Given the description of an element on the screen output the (x, y) to click on. 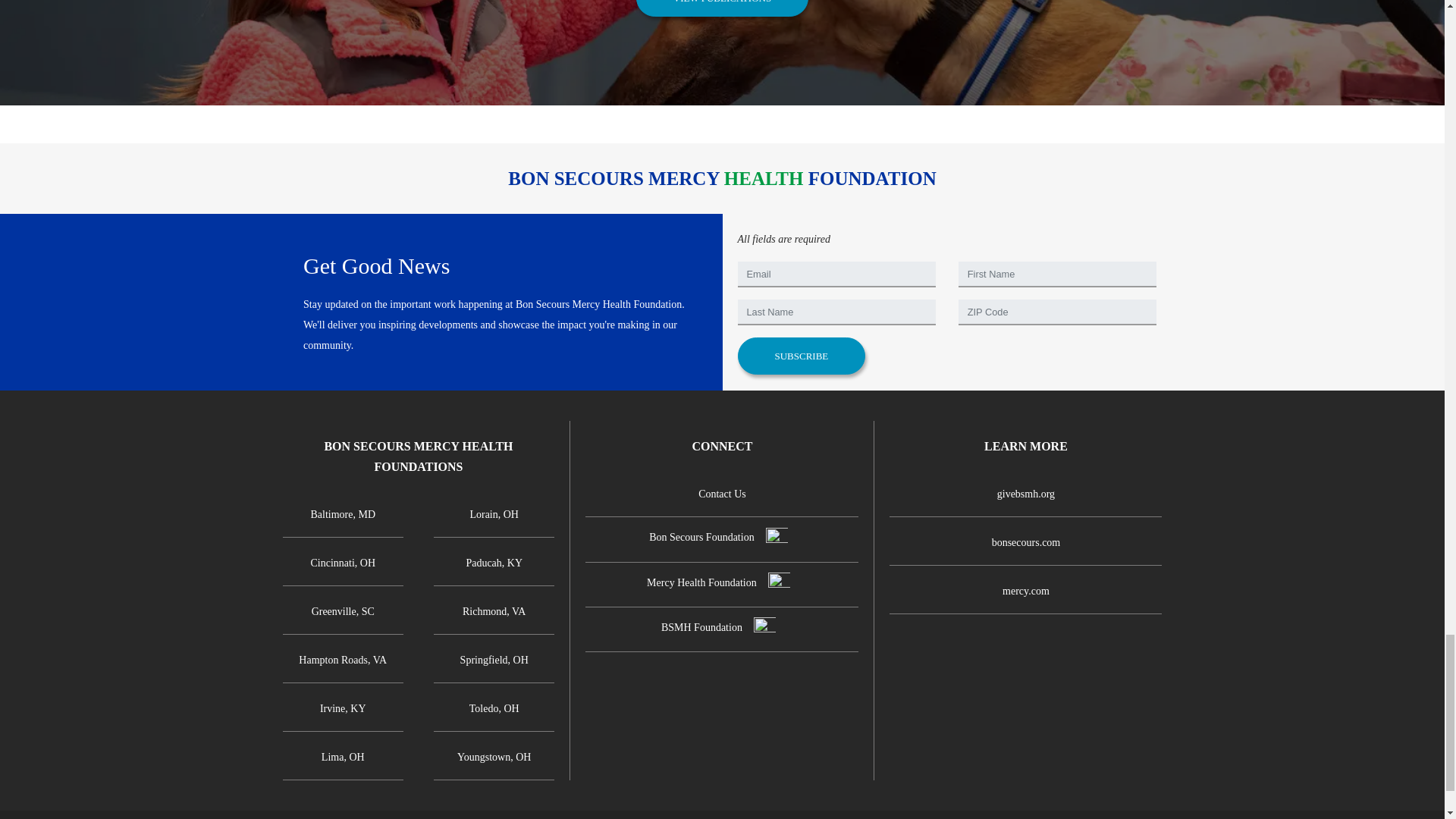
Subscribe (800, 355)
